Given the description of an element on the screen output the (x, y) to click on. 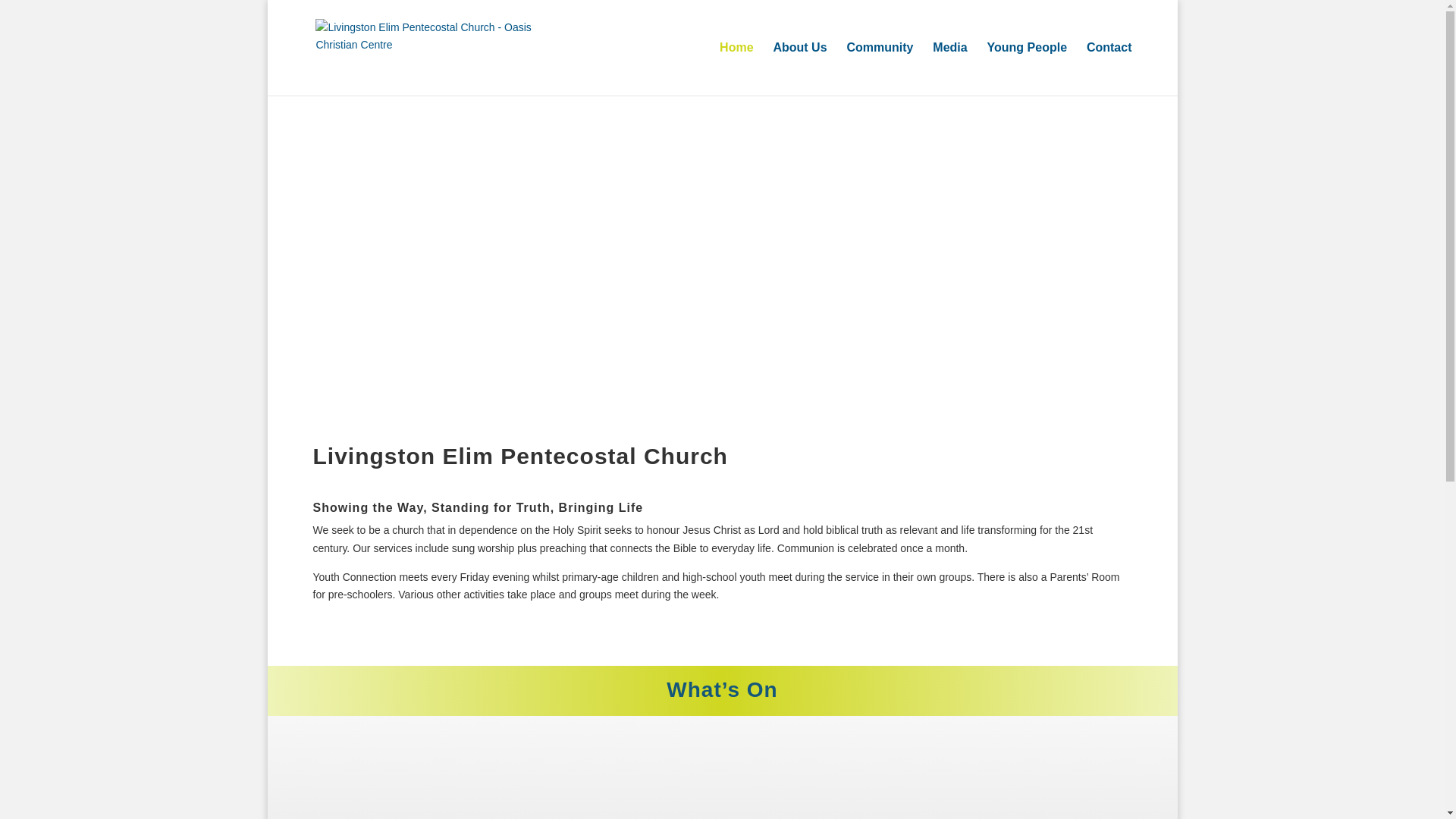
Media (949, 68)
About Us (800, 68)
Community (878, 68)
Young People (1027, 68)
Contact (1109, 68)
Home (735, 68)
